Given the description of an element on the screen output the (x, y) to click on. 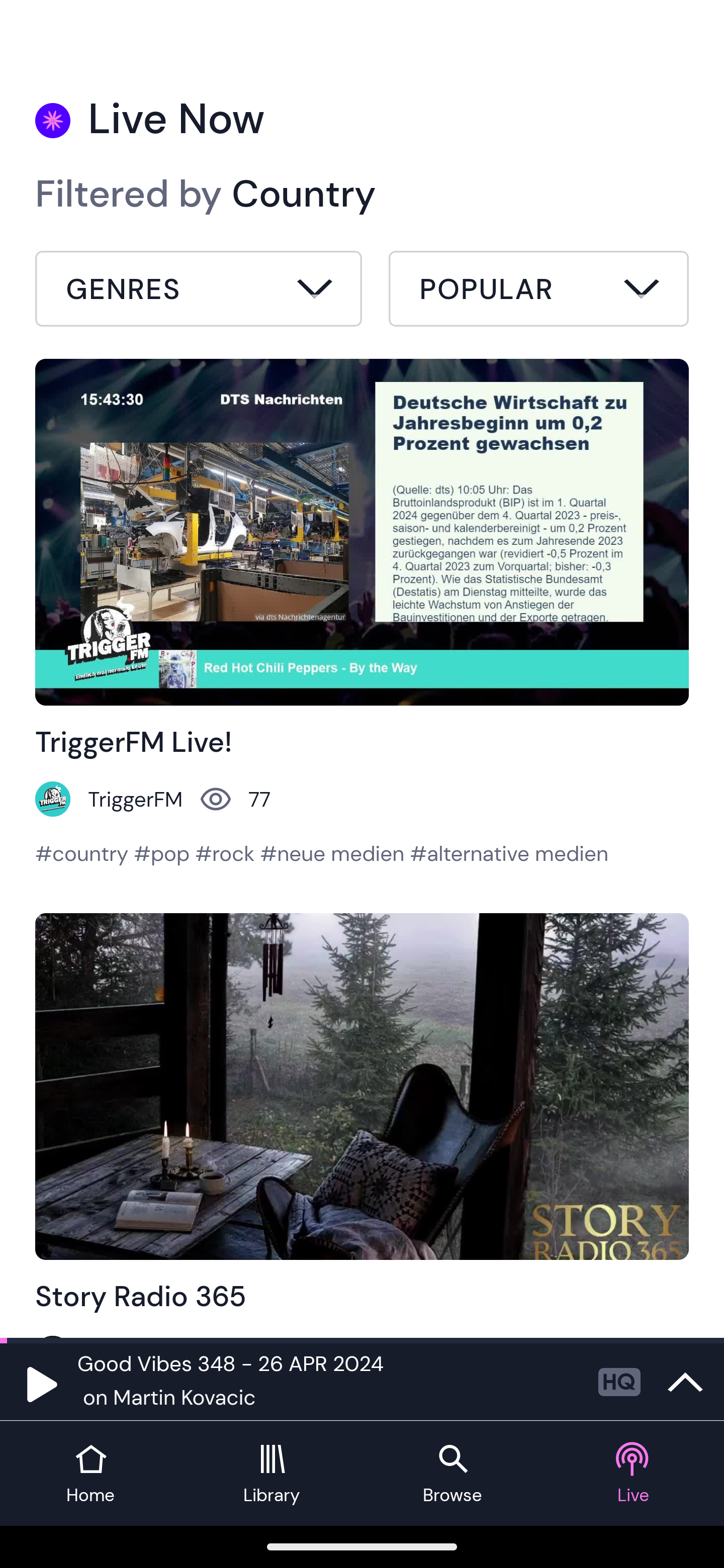
Filter by button Country (198, 291)
Sort by button Popular (538, 291)
Home tab Home (90, 1473)
Library tab Library (271, 1473)
Browse tab Browse (452, 1473)
Live tab Live (633, 1473)
